Given the description of an element on the screen output the (x, y) to click on. 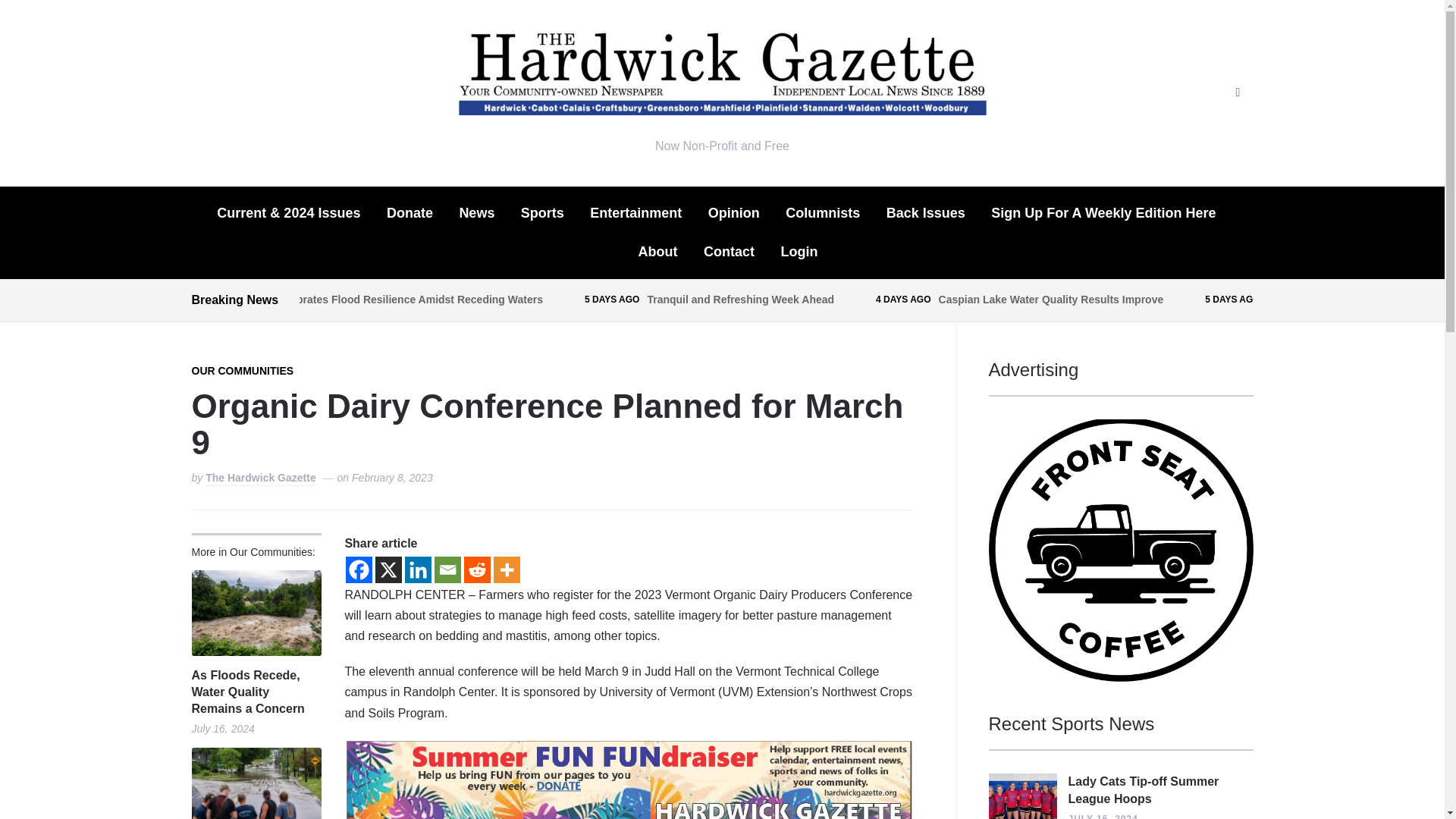
Columnists (823, 213)
Contact (728, 251)
Caspian Lake Water Quality Results Improve (1051, 299)
Opinion (733, 213)
Entertainment (635, 213)
X (388, 569)
Tranquil and Refreshing Week Ahead (740, 299)
Sign Up For A Weekly Edition Here (1103, 213)
Sports (542, 213)
Login (798, 251)
Donate (409, 213)
About (658, 251)
